Given the description of an element on the screen output the (x, y) to click on. 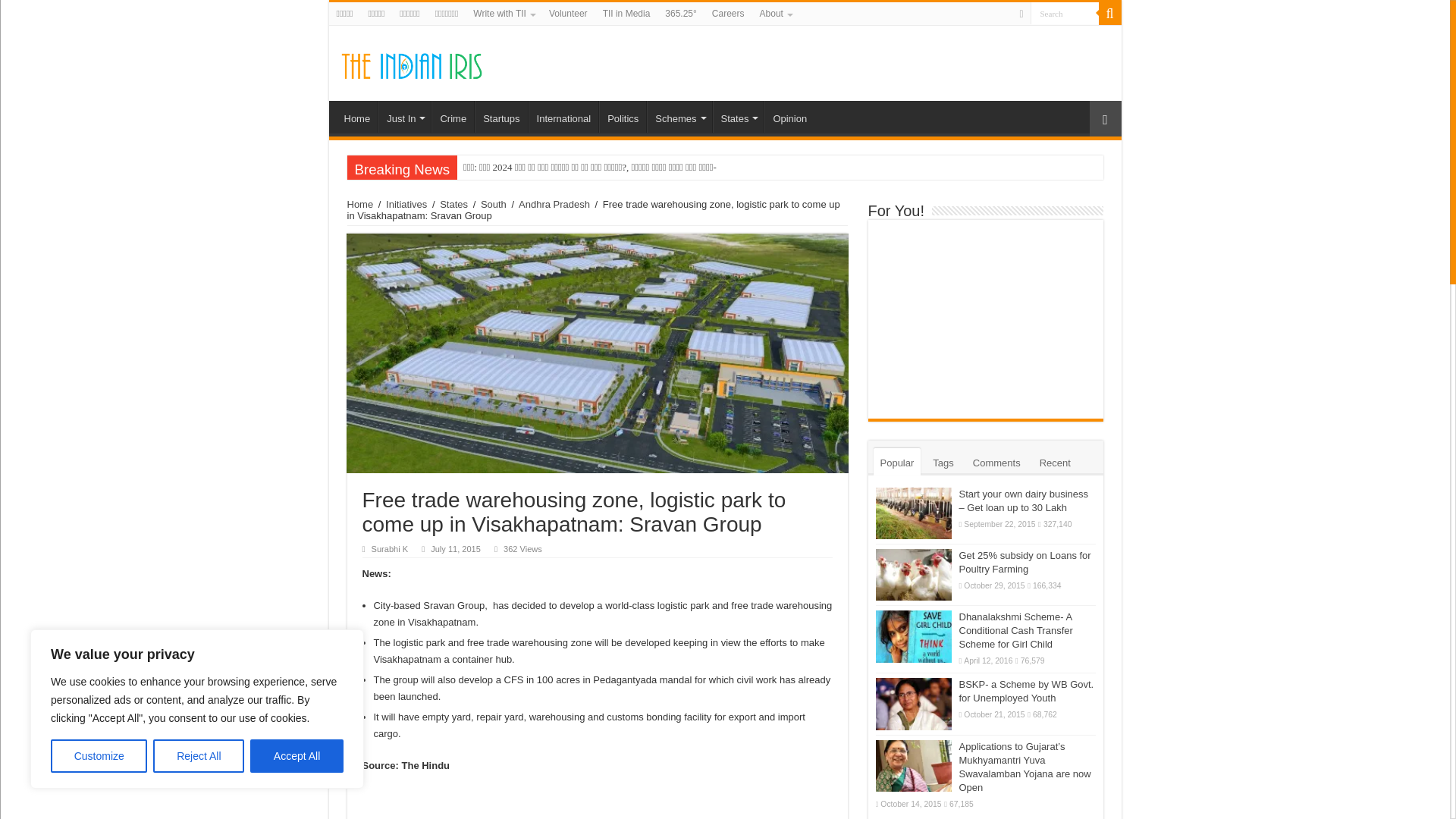
The Indian Iris (411, 63)
Customize (98, 756)
Reject All (198, 756)
Search (1063, 13)
Search (1063, 13)
Accept All (296, 756)
